Given the description of an element on the screen output the (x, y) to click on. 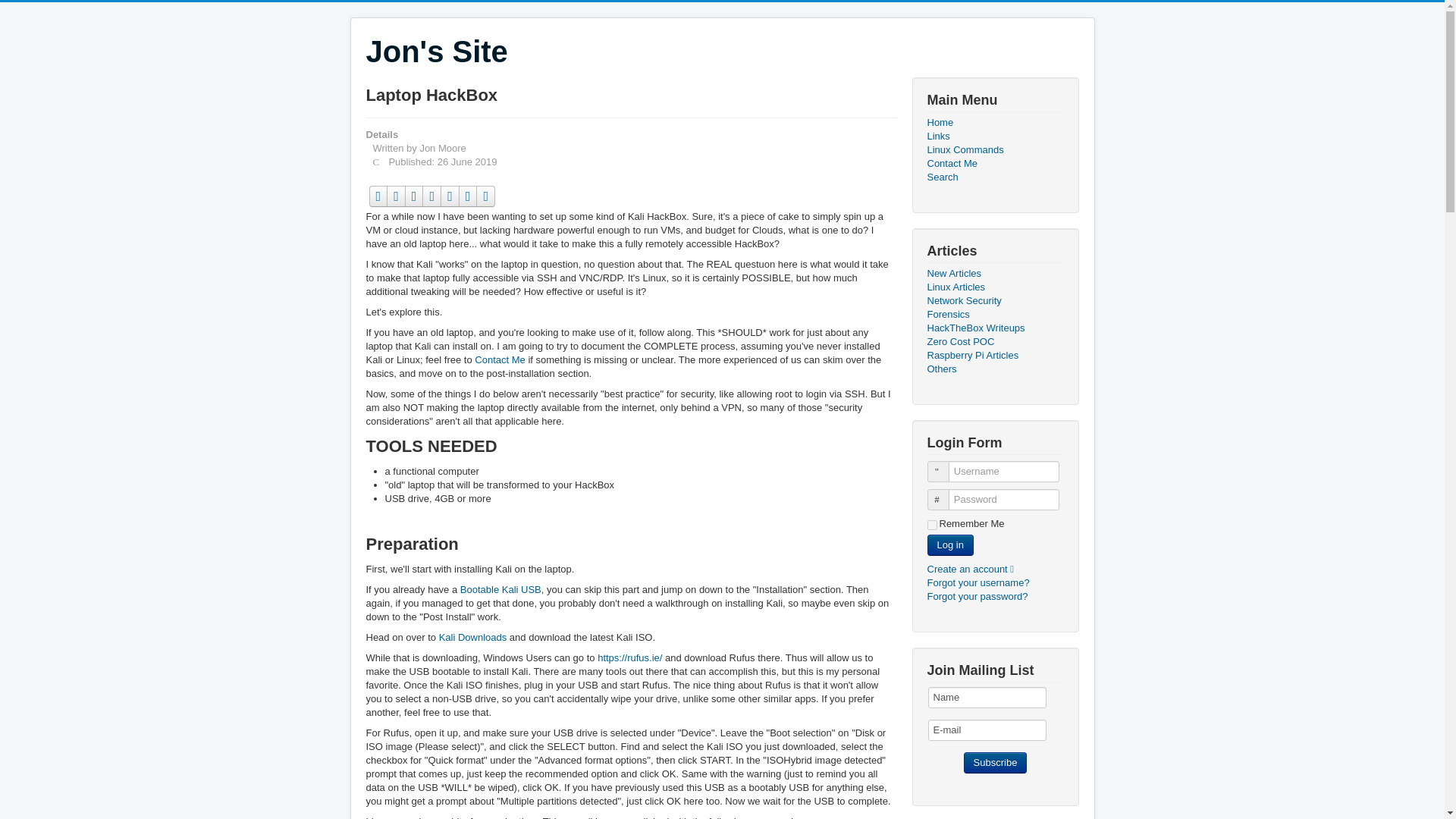
Subscribe (995, 762)
Jon's Site (435, 51)
Contact Me (499, 359)
E-mail (987, 730)
Bootable Kali USB (500, 589)
Kali Downloads (472, 636)
E-mail (987, 730)
Jon's Site (435, 51)
Name (987, 697)
yes (931, 524)
